Given the description of an element on the screen output the (x, y) to click on. 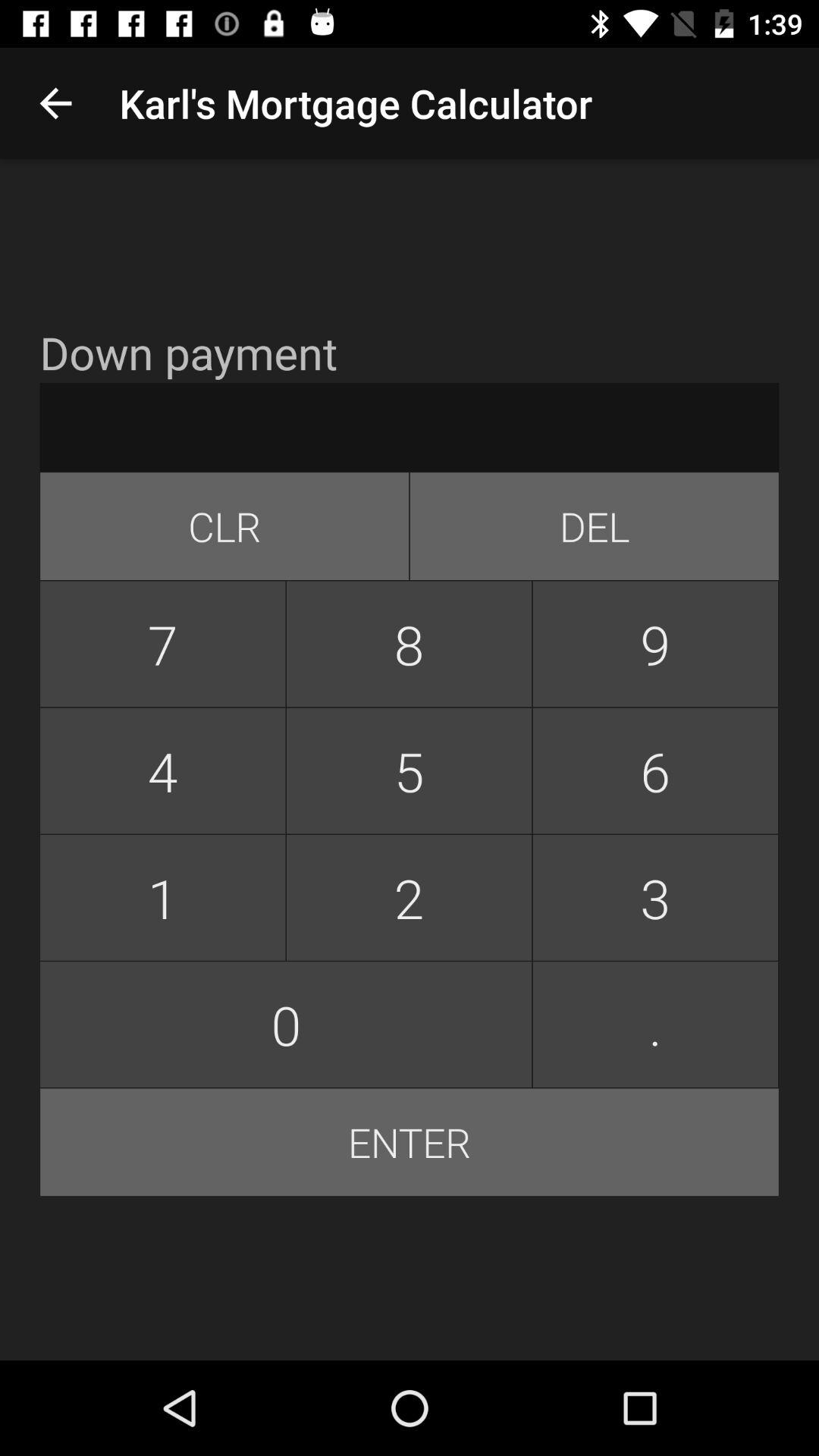
open icon to the left of the karl s mortgage (55, 103)
